Given the description of an element on the screen output the (x, y) to click on. 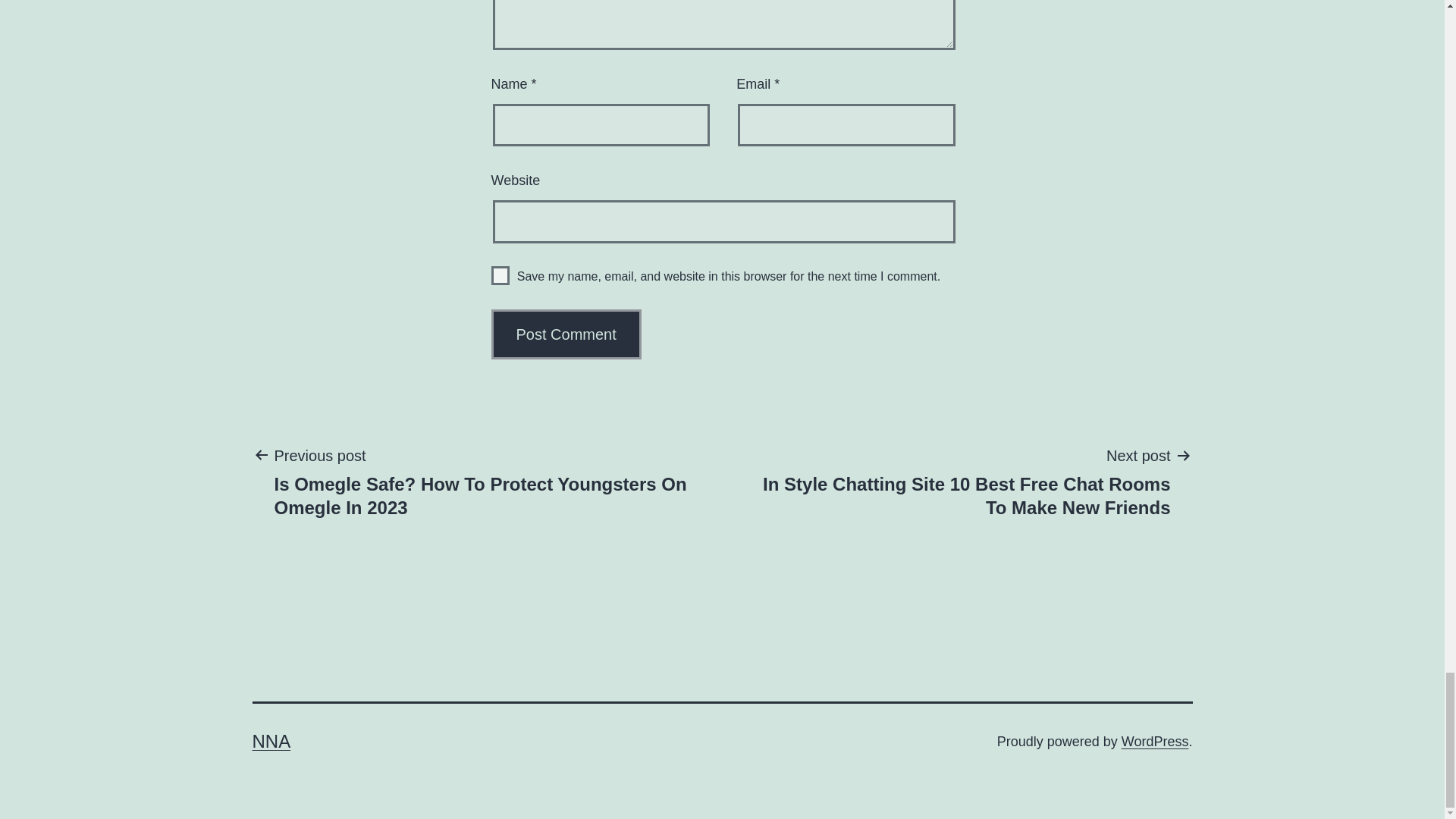
yes (500, 275)
Post Comment (567, 334)
WordPress (1155, 741)
NNA (270, 741)
Post Comment (567, 334)
